Given the description of an element on the screen output the (x, y) to click on. 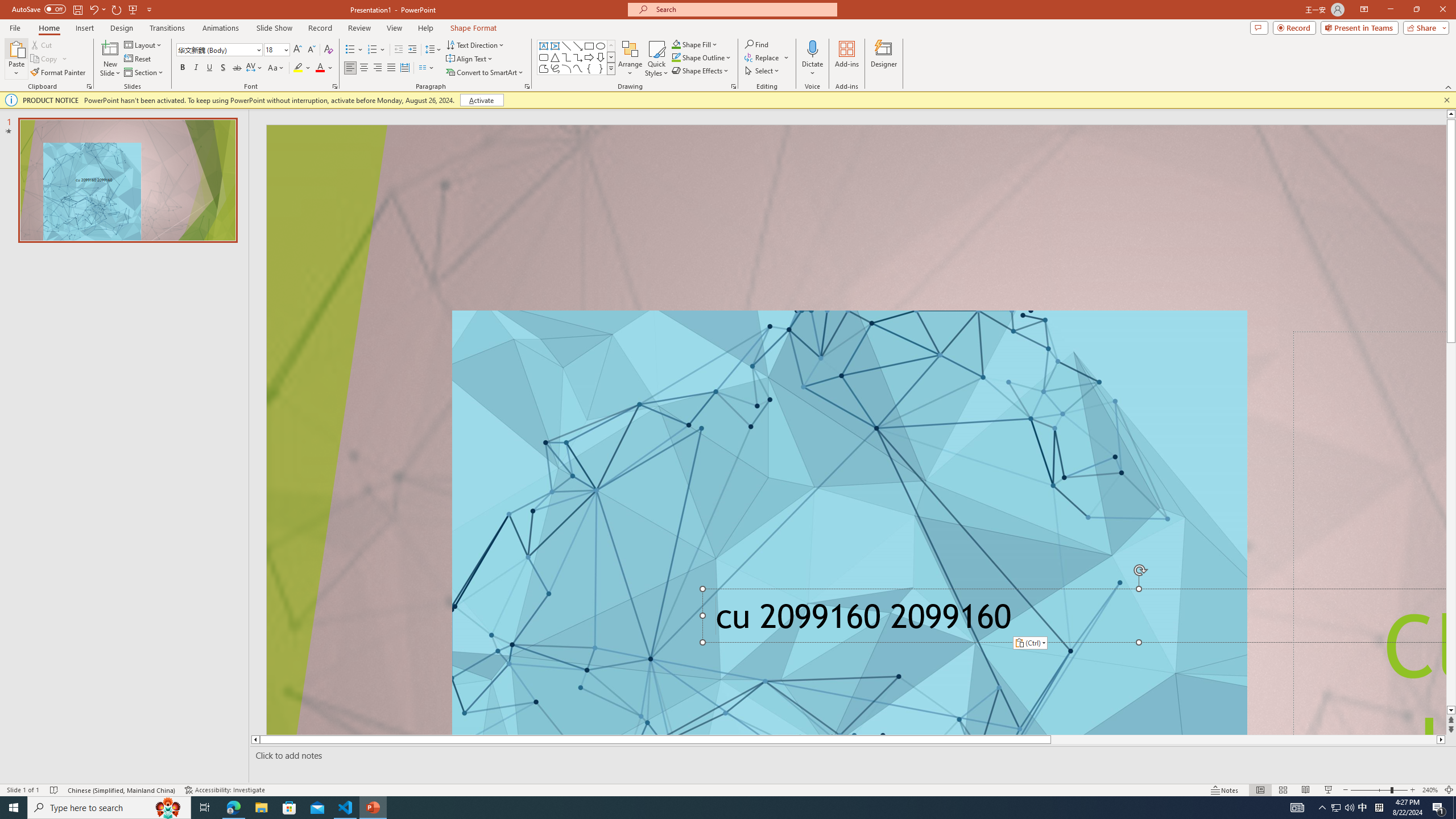
Action: Paste alternatives (1030, 642)
TextBox 61 (1070, 620)
